Given the description of an element on the screen output the (x, y) to click on. 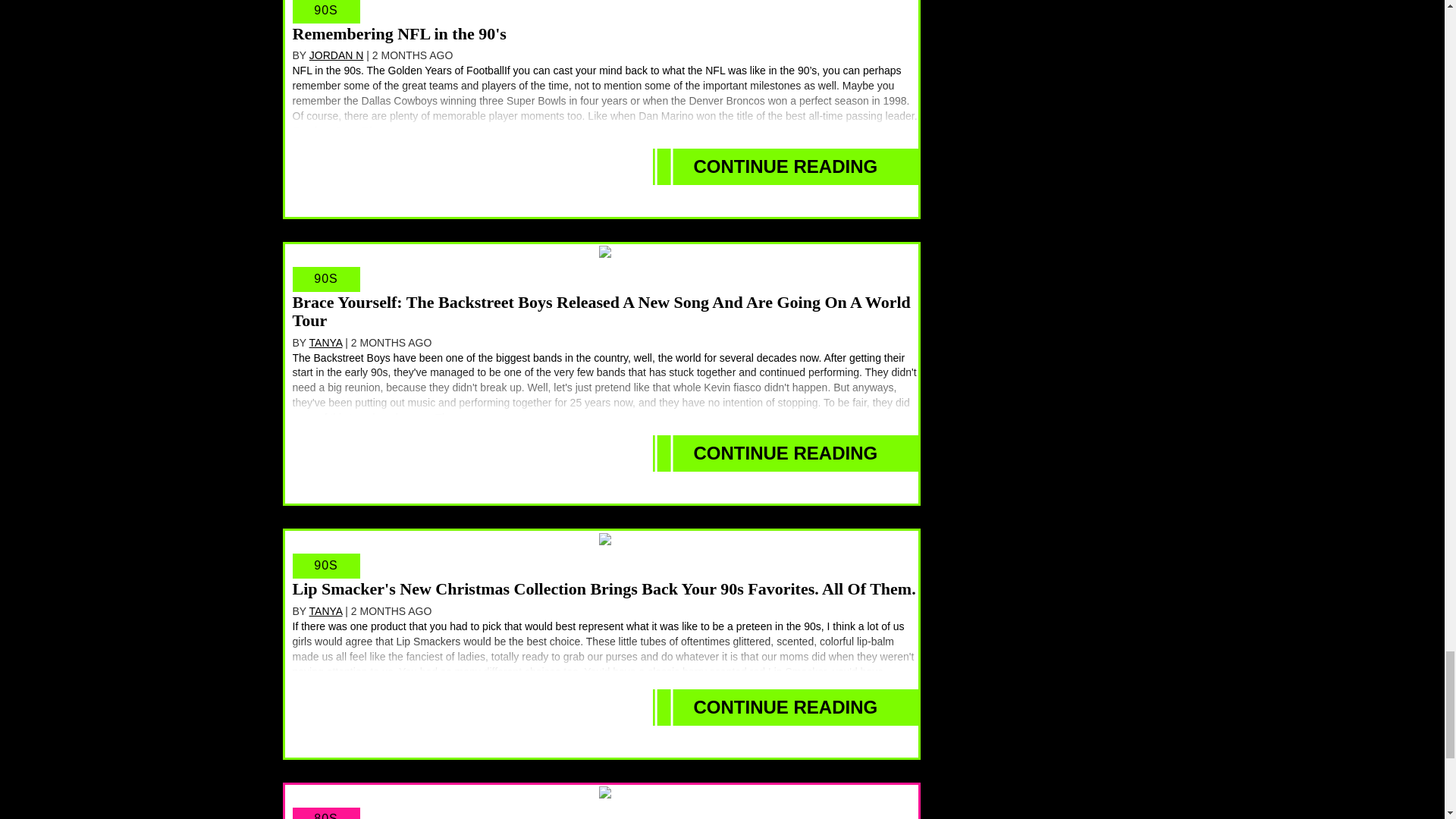
CONTINUE READING (785, 452)
CONTINUE READING (785, 166)
TANYA (325, 342)
Remembering NFL in the 90's (399, 33)
90S (325, 11)
JORDAN N (336, 55)
Tanya's Profile (325, 611)
90S (325, 278)
Jordan N's Profile (336, 55)
